Given the description of an element on the screen output the (x, y) to click on. 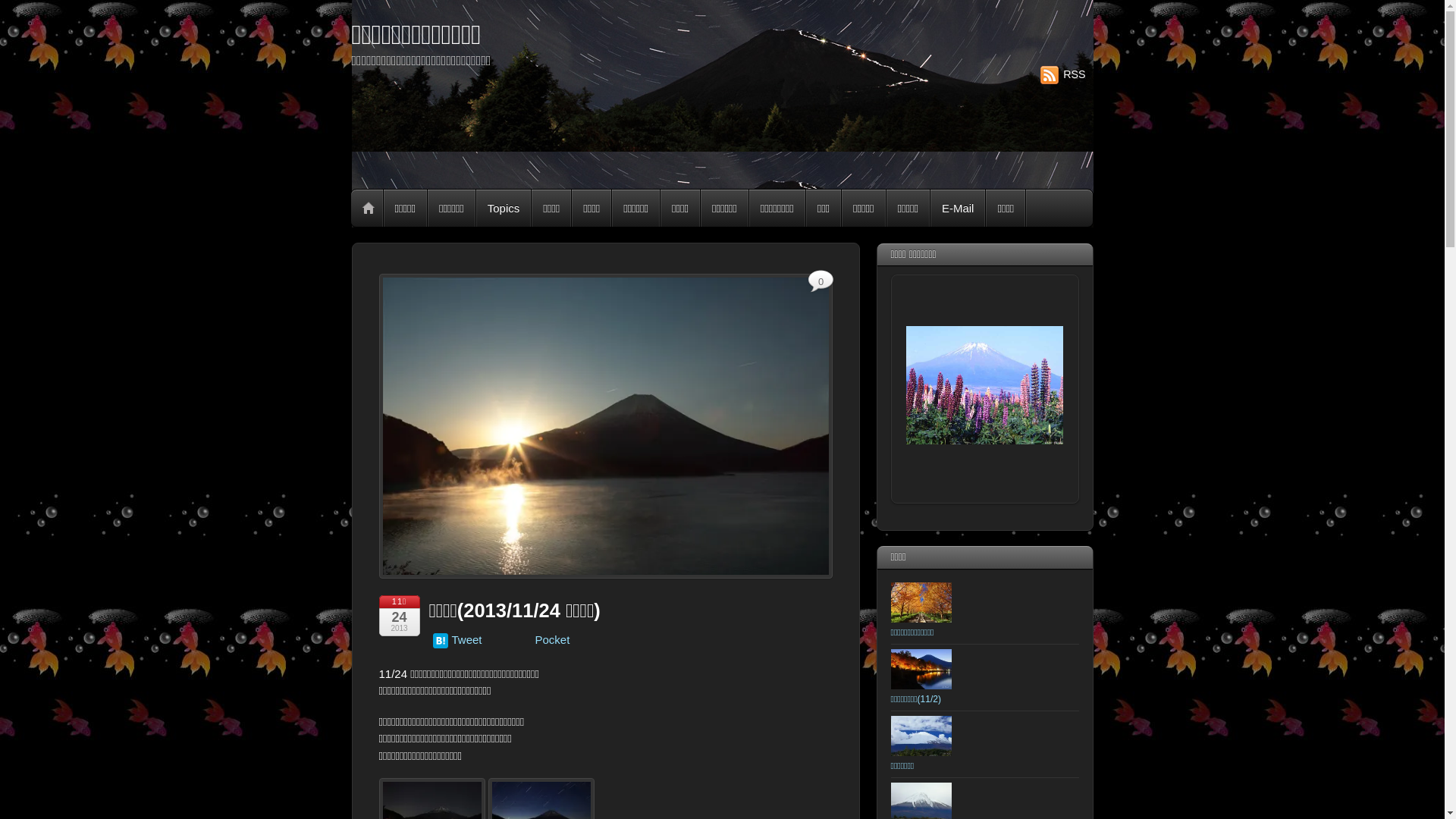
Tweet Element type: text (466, 639)
131124-03 Element type: hover (605, 425)
Home Element type: text (367, 207)
Pocket Element type: text (552, 639)
Topics Element type: text (503, 207)
RSS Element type: text (1062, 74)
E-Mail Element type: text (957, 207)
0 Element type: text (820, 282)
